Given the description of an element on the screen output the (x, y) to click on. 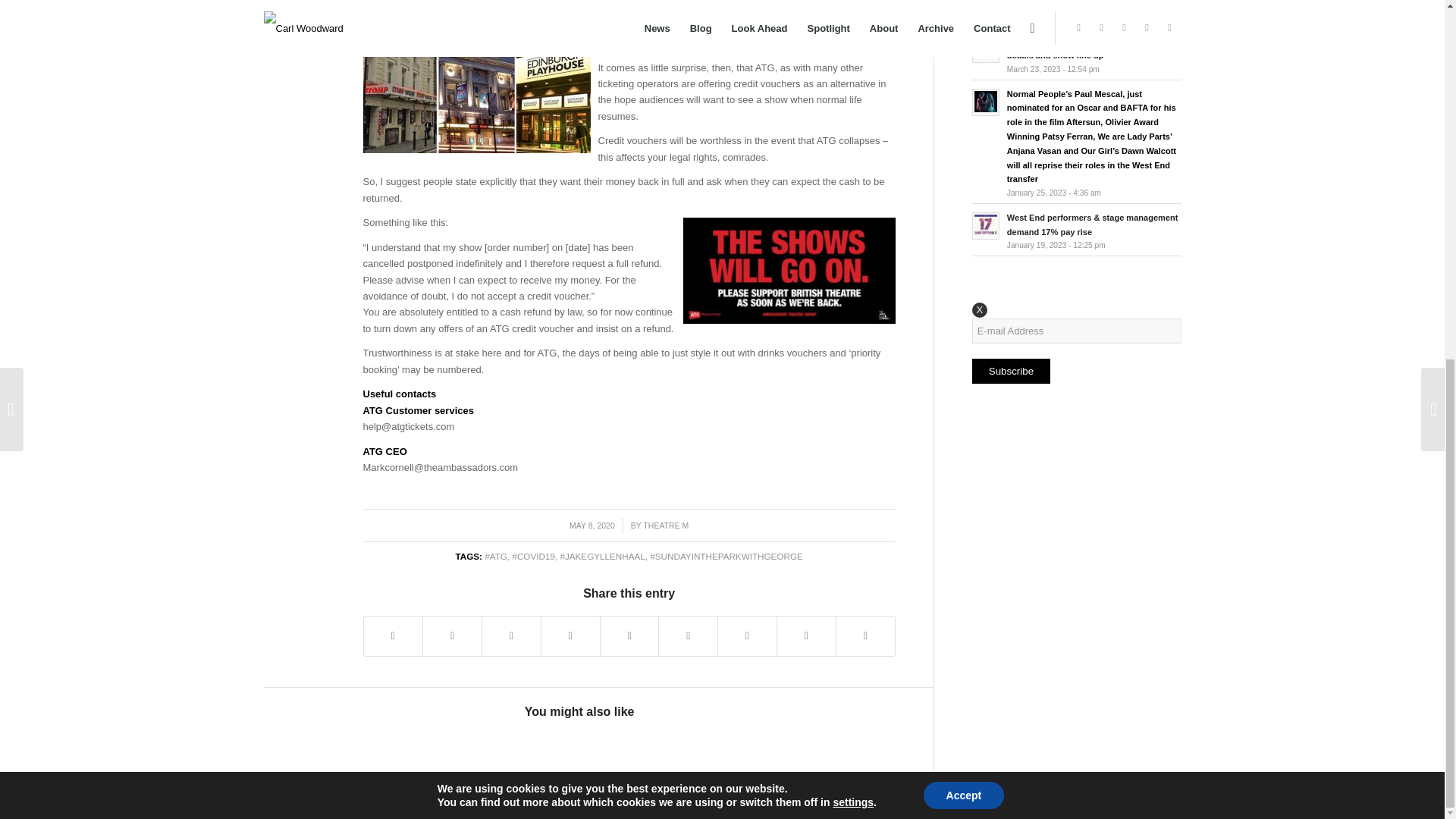
THEATRE M (665, 524)
Subscribe (1010, 371)
Posts by Theatre M (665, 524)
